Given the description of an element on the screen output the (x, y) to click on. 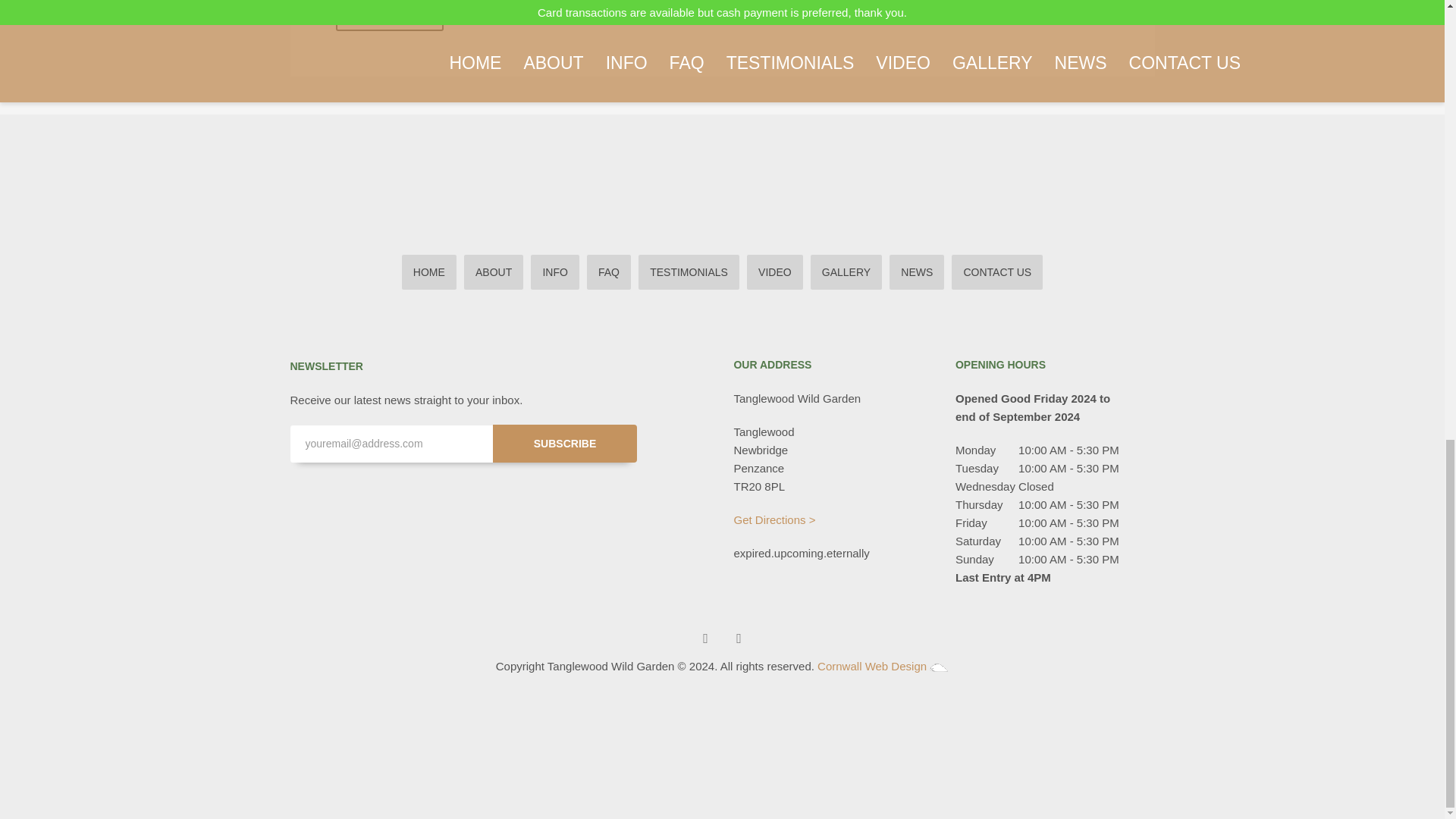
GALLERY (846, 271)
Post Comment (389, 15)
FAQ (608, 271)
ABOUT (493, 271)
Cornwall Web Design (871, 666)
HOME (429, 271)
CONTACT US (997, 271)
NEWS (916, 271)
INFO (554, 271)
Cornwall Web Design (871, 666)
Web Design Cornwall (939, 666)
TESTIMONIALS (689, 271)
Post Comment (389, 15)
VIDEO (774, 271)
